Given the description of an element on the screen output the (x, y) to click on. 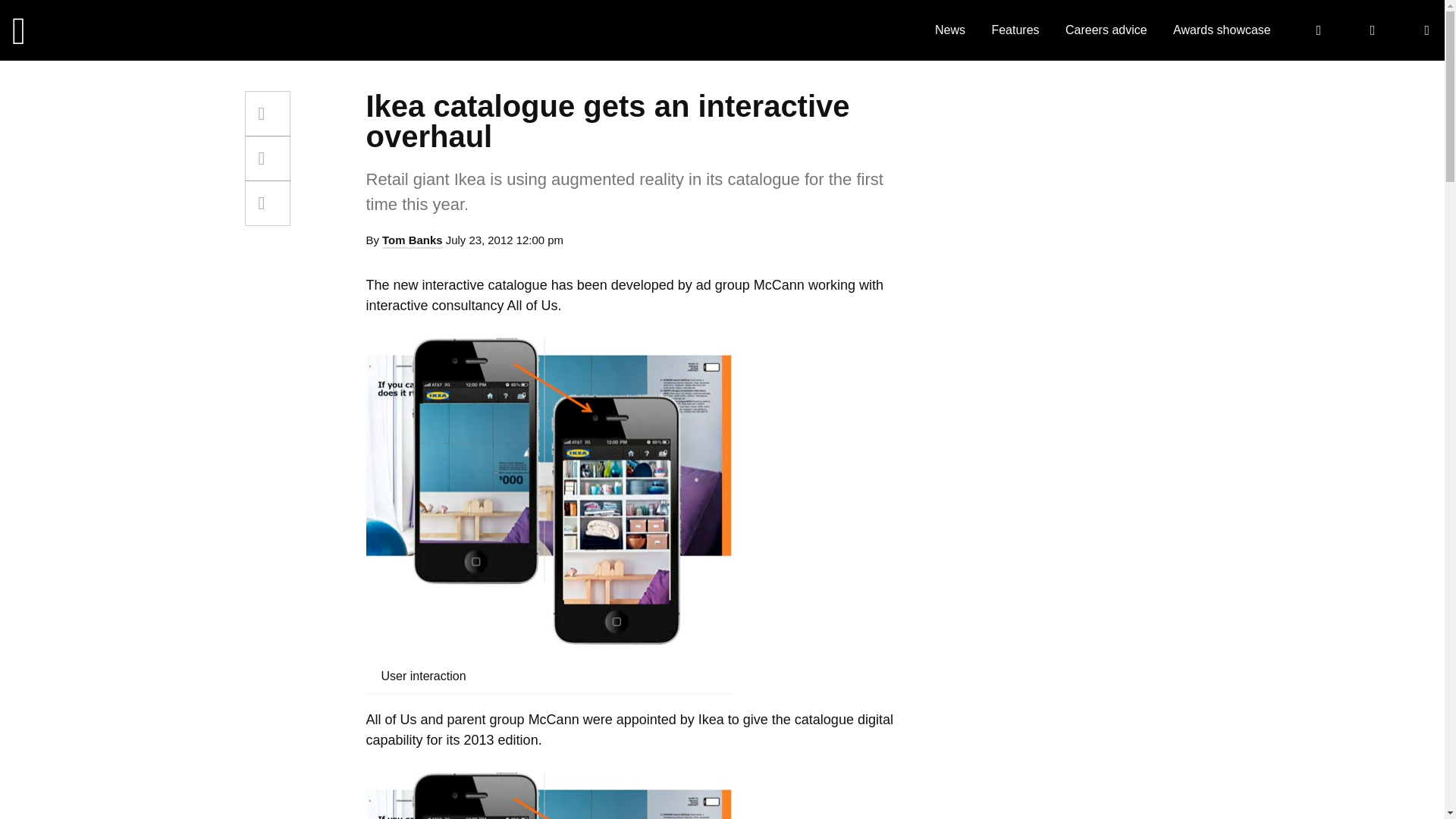
Awards showcase (1222, 29)
News (949, 29)
Tom Banks (411, 241)
Features (1015, 29)
Posts by Tom Banks (411, 241)
Careers advice (1106, 29)
